Given the description of an element on the screen output the (x, y) to click on. 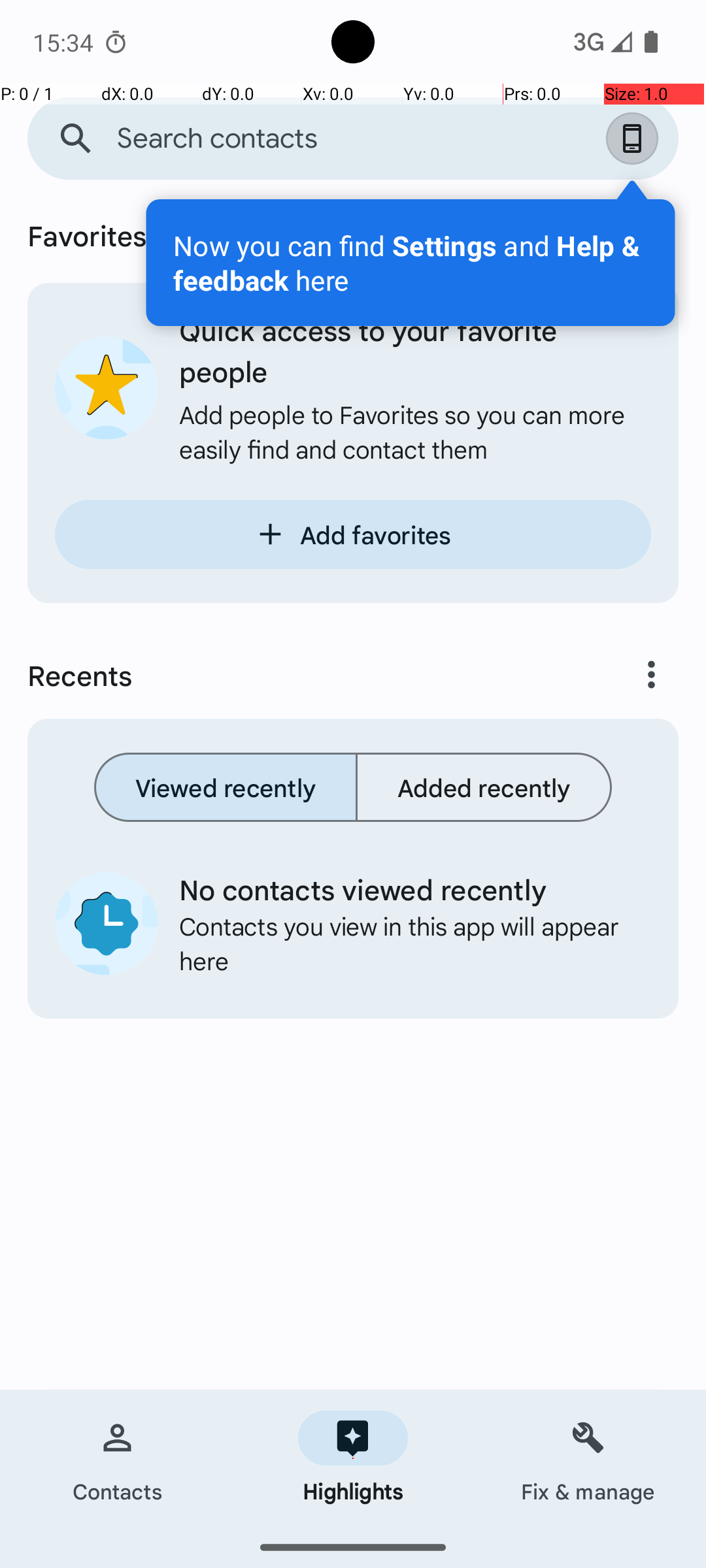
Quick access to your favorite people Element type: android.widget.TextView (415, 350)
Add people to Favorites so you can more easily find and contact them Element type: android.widget.TextView (415, 431)
Add favorites Element type: android.widget.Button (352, 534)
No contacts viewed recently Element type: android.widget.TextView (404, 888)
Contacts you view in this app will appear here Element type: android.widget.TextView (404, 942)
Viewed recently Element type: android.widget.CompoundButton (225, 787)
Added recently Element type: android.widget.CompoundButton (483, 787)
